Given the description of an element on the screen output the (x, y) to click on. 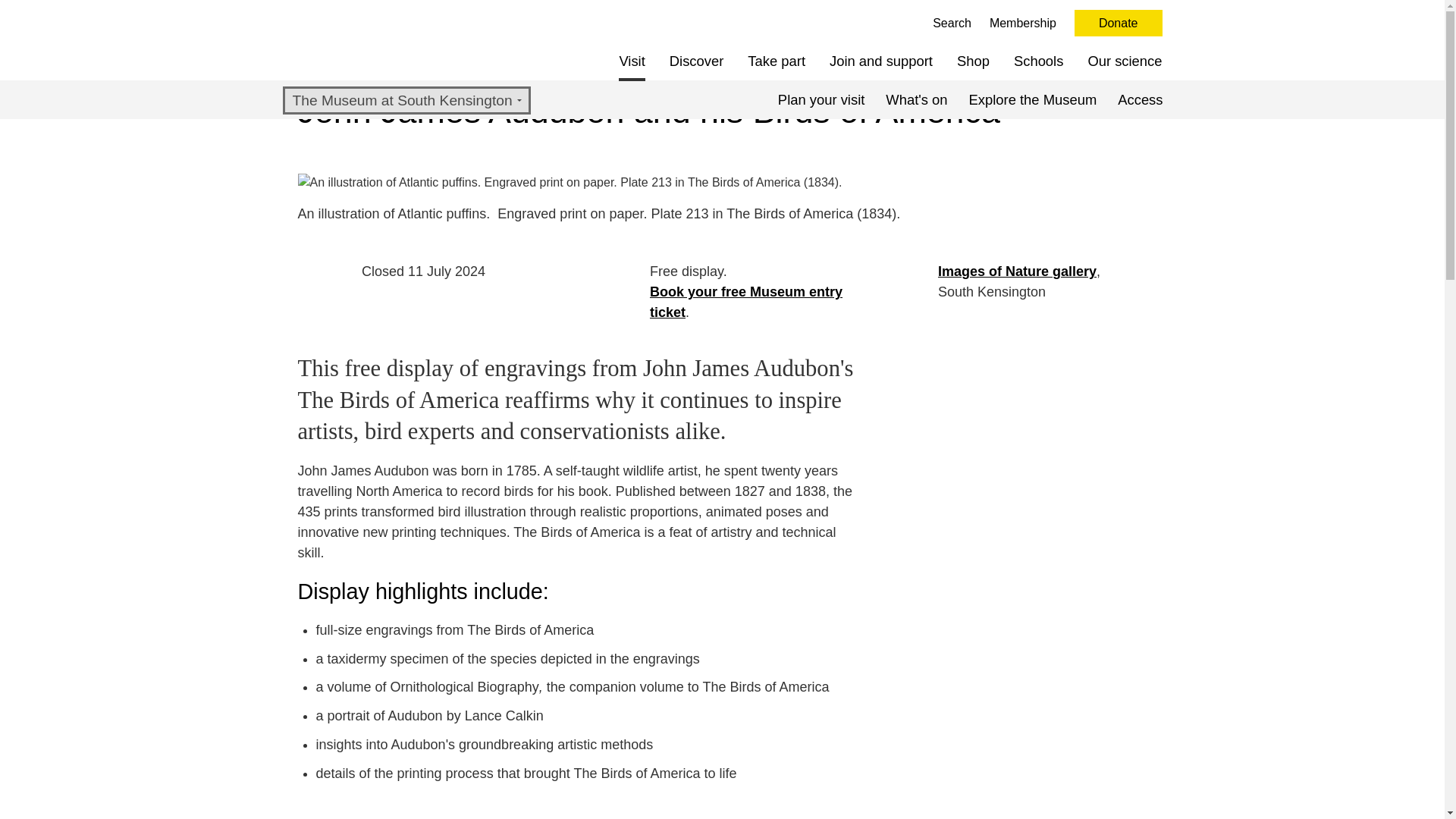
Visit (631, 60)
Take part (776, 60)
Plan your visit (821, 99)
Access (1139, 99)
Discover (696, 60)
Join and support (881, 60)
Explore the Museum (1033, 99)
What's on (916, 99)
